Given the description of an element on the screen output the (x, y) to click on. 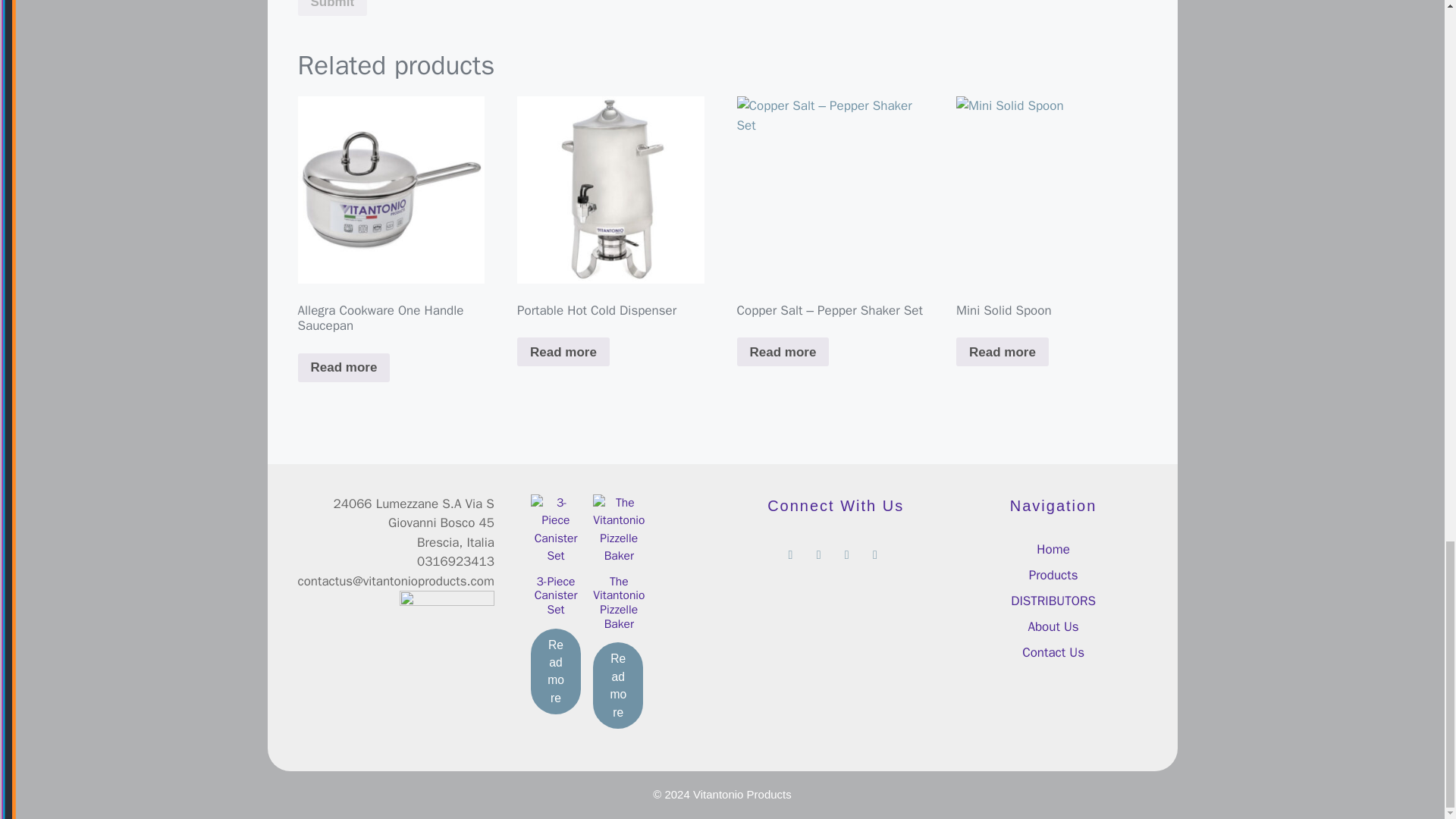
Submit (331, 7)
Read more (782, 351)
Read more (1002, 351)
Twitter (818, 550)
Read more (343, 367)
Submit (331, 7)
Read more (563, 351)
Instagram (846, 550)
Facebook (790, 550)
LinkedIn (874, 550)
